Given the description of an element on the screen output the (x, y) to click on. 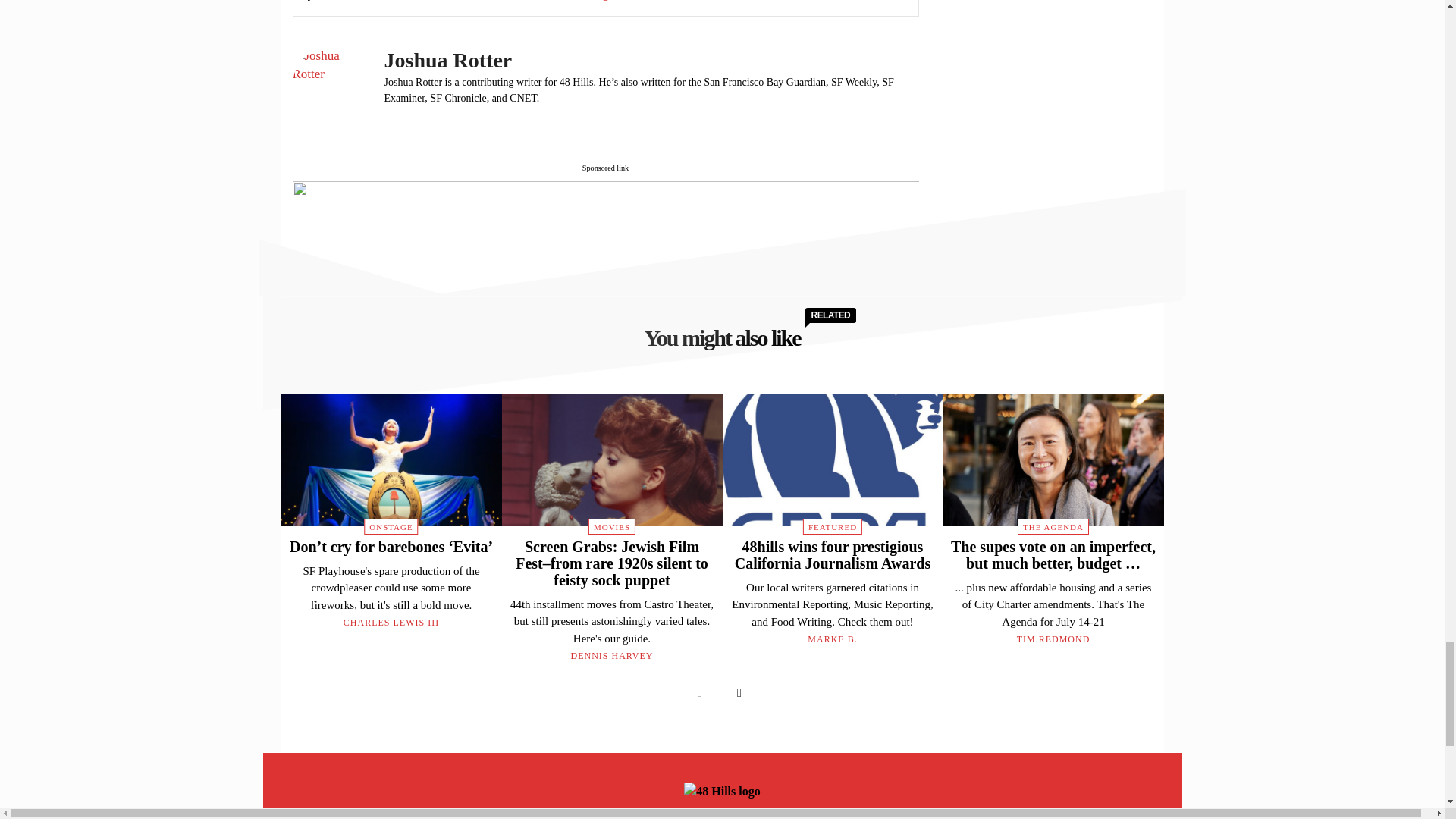
Joshua Rotter (330, 84)
